Given the description of an element on the screen output the (x, y) to click on. 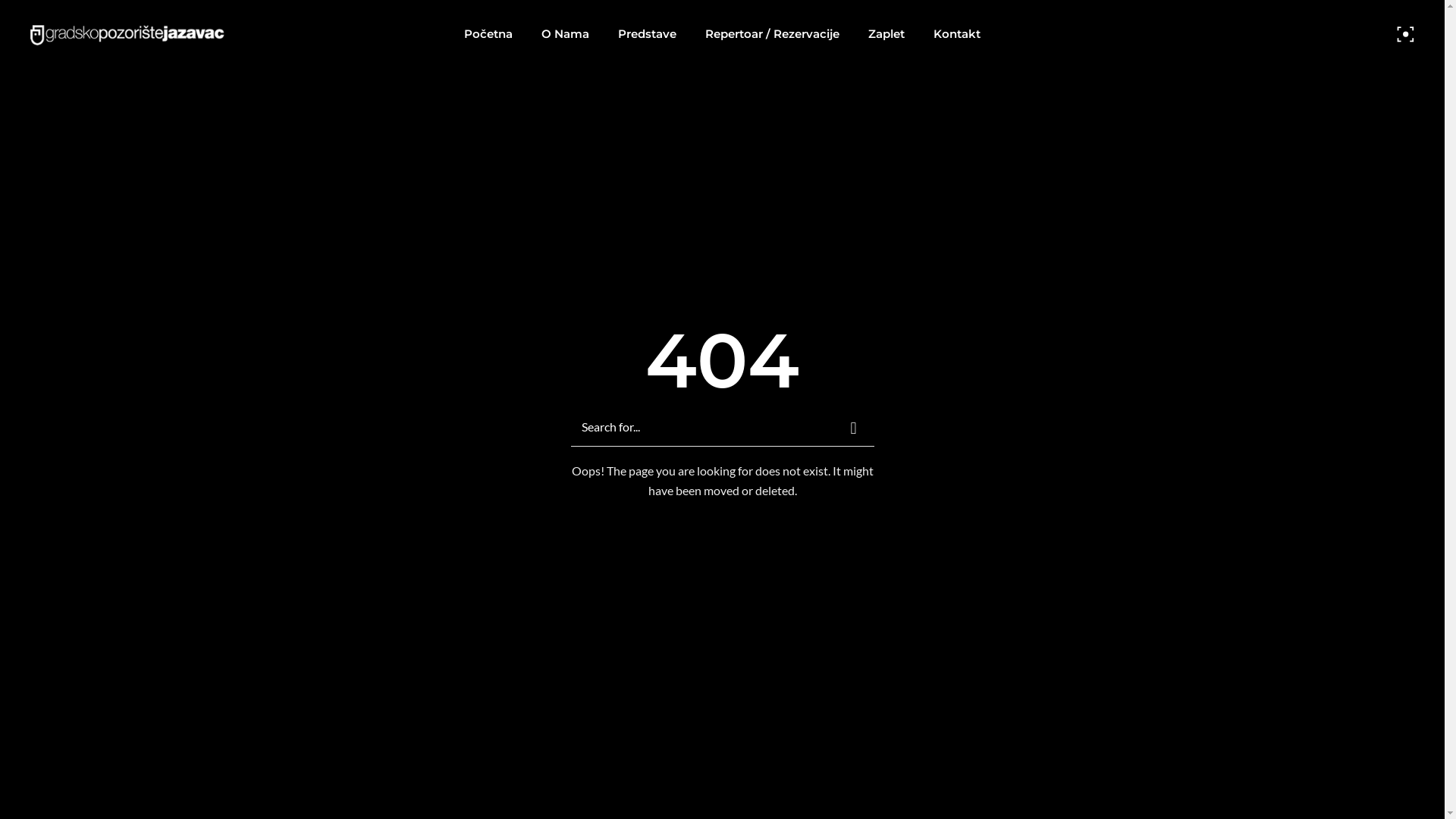
Kontakt Element type: text (956, 34)
Zaplet Element type: text (886, 34)
Repertoar / Rezervacije Element type: text (771, 34)
O Nama Element type: text (565, 34)
Search for: Element type: hover (710, 426)
Predstave Element type: text (646, 34)
